Given the description of an element on the screen output the (x, y) to click on. 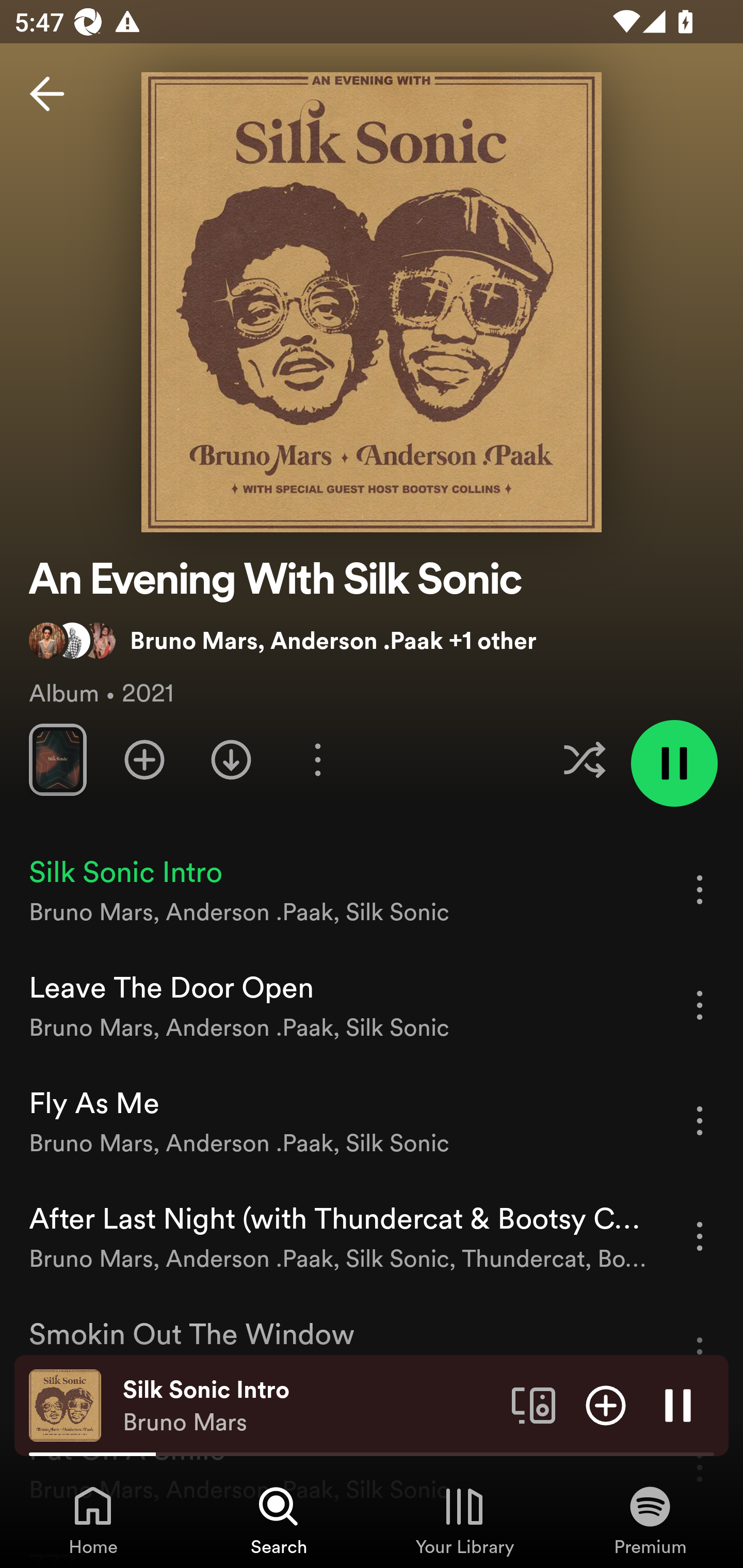
Back (46, 93)
Bruno Mars, Anderson .Paak +1 other (282, 640)
Swipe through previews of tracks from this album. (57, 759)
Add playlist to Your Library (144, 759)
Download (230, 759)
Enable shuffle for this playlist (583, 759)
Pause playlist (674, 763)
More options for song Silk Sonic Intro (699, 889)
More options for song Leave The Door Open (699, 1004)
More options for song Fly As Me (699, 1120)
Silk Sonic Intro Bruno Mars (309, 1405)
The cover art of the currently playing track (64, 1404)
Connect to a device. Opens the devices menu (533, 1404)
Add item (605, 1404)
Pause (677, 1404)
Home, Tab 1 of 4 Home Home (92, 1519)
Search, Tab 2 of 4 Search Search (278, 1519)
Your Library, Tab 3 of 4 Your Library Your Library (464, 1519)
Premium, Tab 4 of 4 Premium Premium (650, 1519)
